Given the description of an element on the screen output the (x, y) to click on. 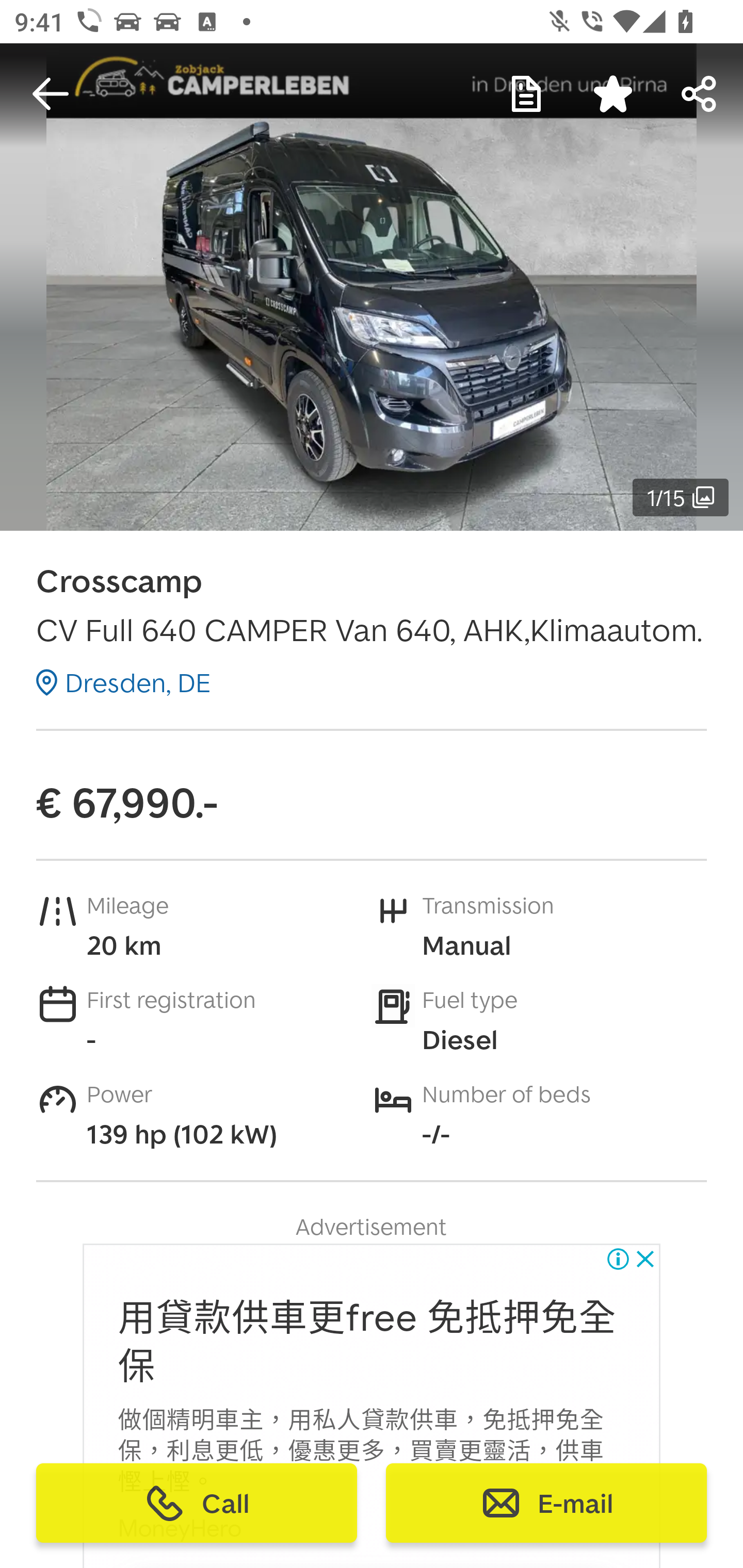
Navigate up (50, 93)
My Notes (525, 93)
Saved (612, 93)
Forward (699, 93)
Dresden, DE (123, 681)
用貸款供車更free 免抵押免全 保 用貸款供車更free 免抵押免全 保 (366, 1342)
Call (196, 1502)
E-mail (545, 1502)
